Given the description of an element on the screen output the (x, y) to click on. 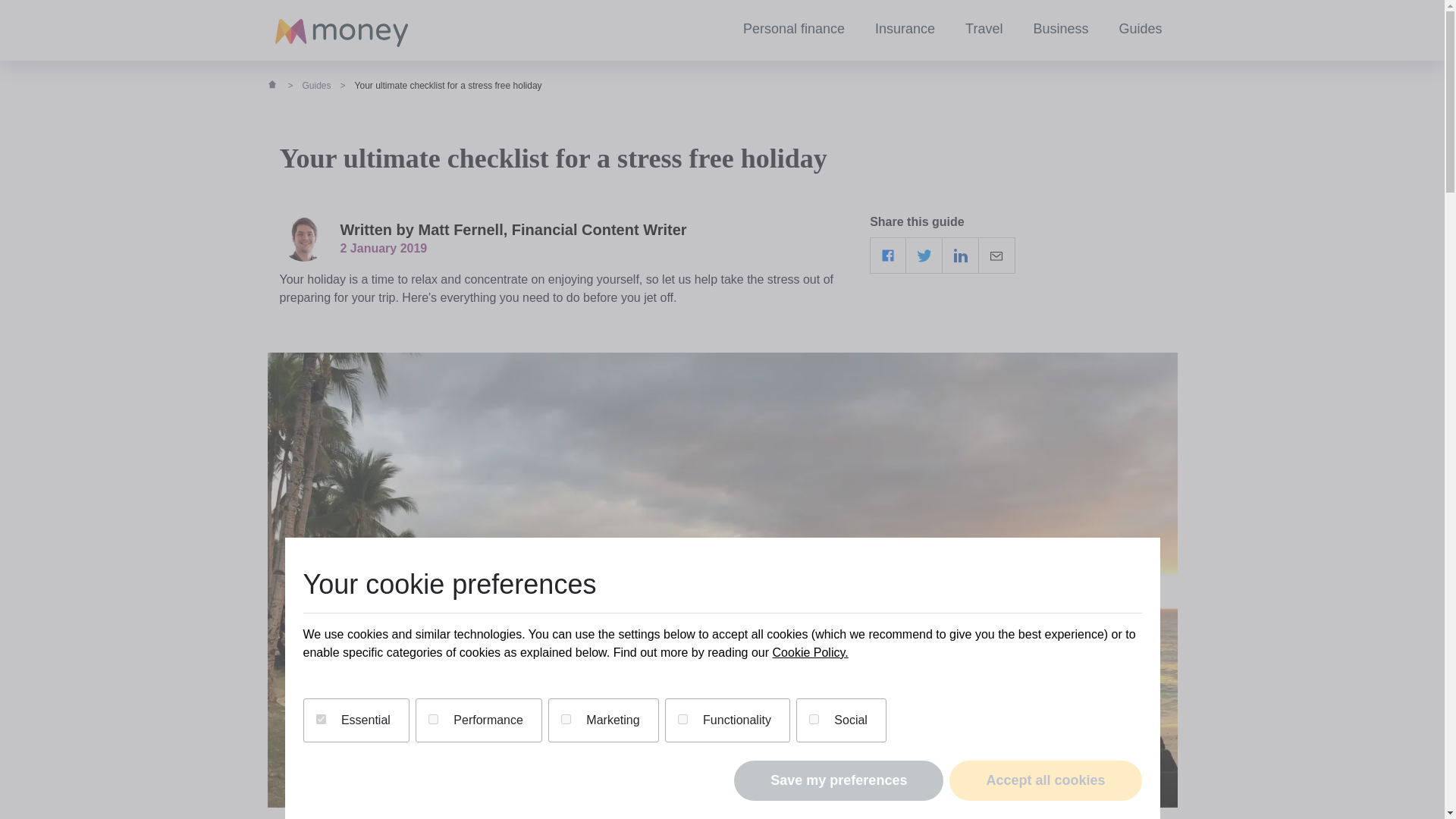
Money (341, 33)
on (565, 718)
on (682, 718)
Personal finance (794, 30)
on (319, 718)
on (813, 718)
on (433, 718)
